Given the description of an element on the screen output the (x, y) to click on. 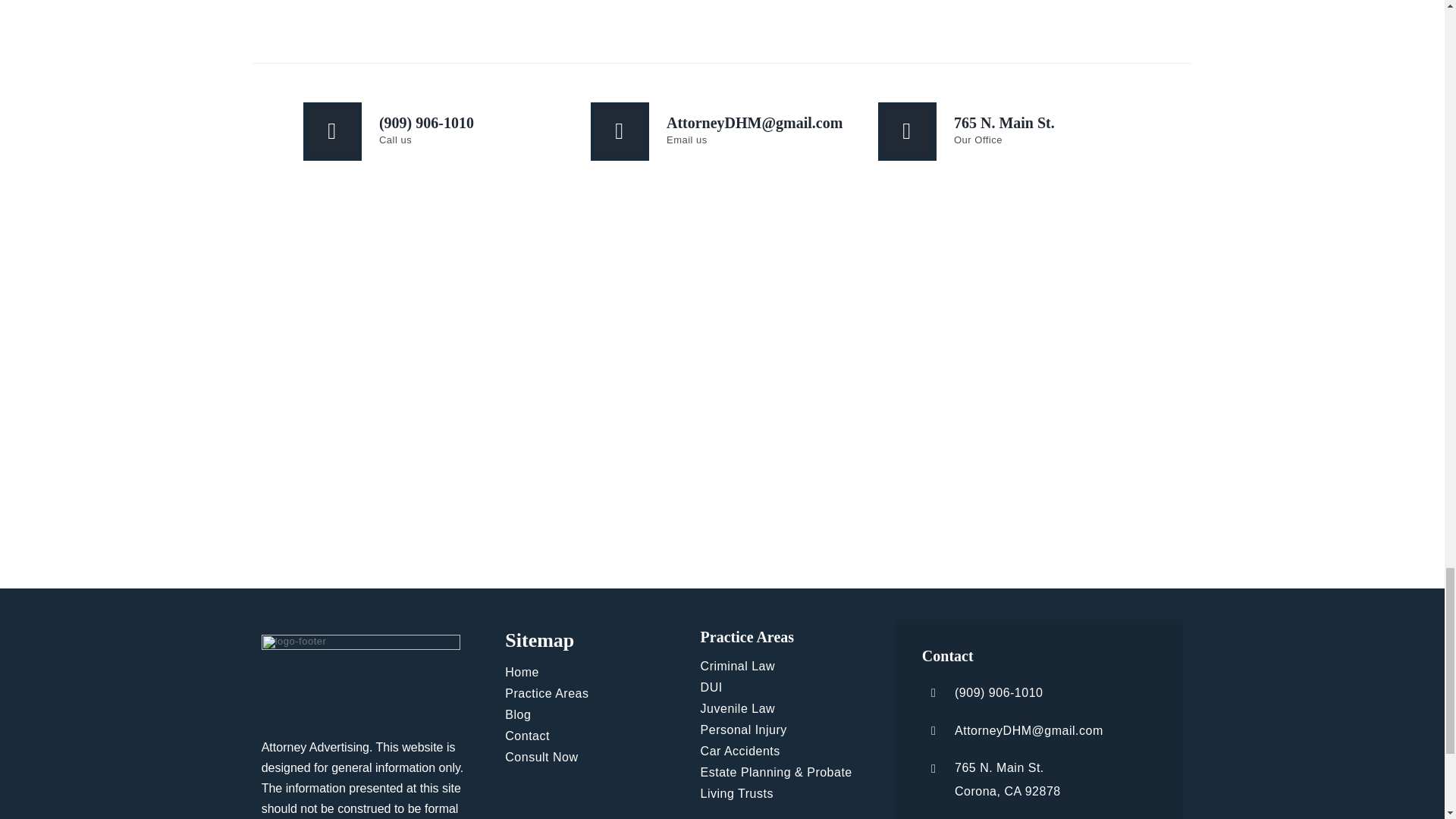
logo-footer (361, 679)
